Given the description of an element on the screen output the (x, y) to click on. 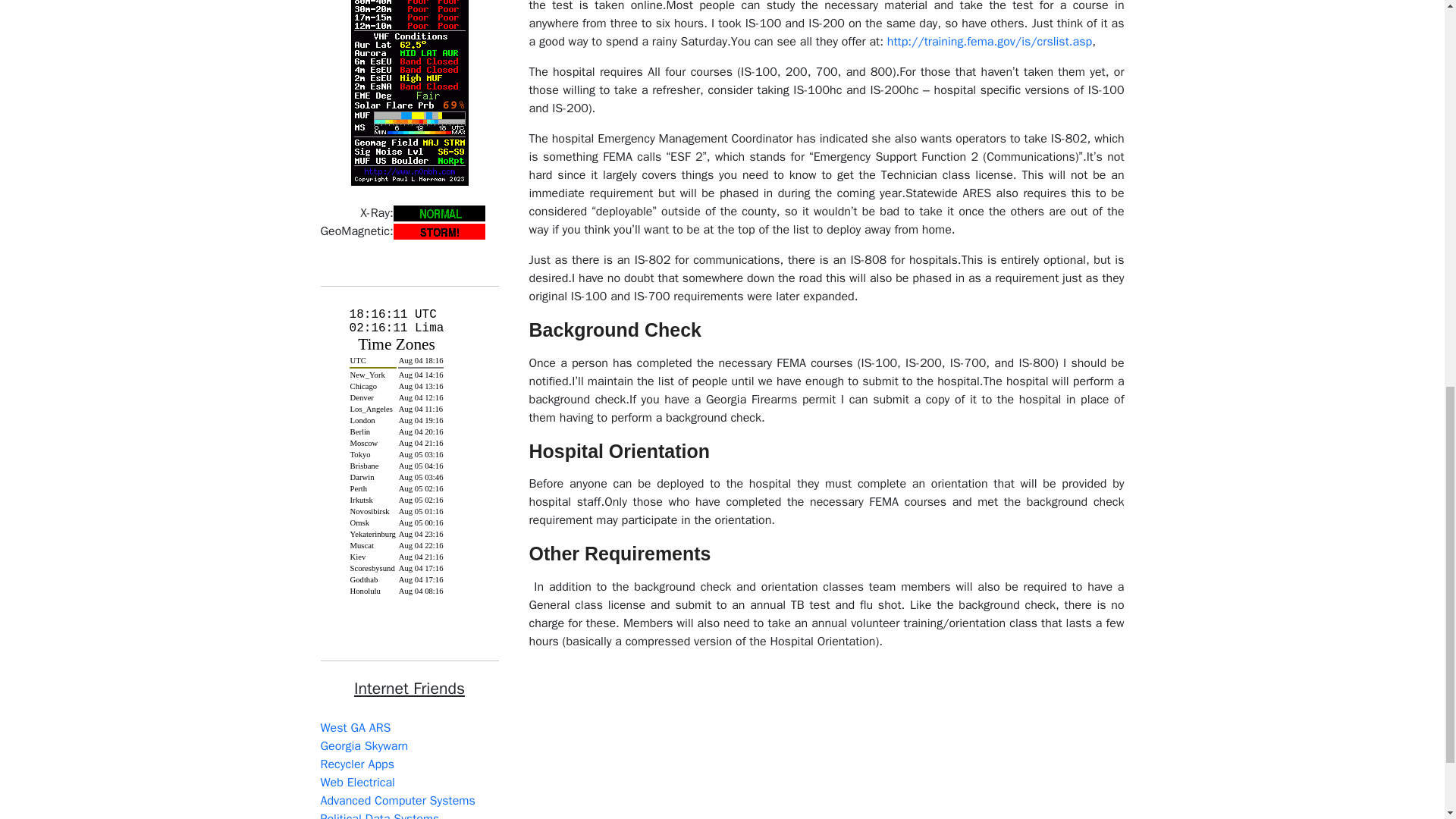
Web Electrical (357, 782)
Click to add Solar-Terrestrial Data to your website! (408, 32)
West GA ARS (355, 727)
Georgia Skywarn (363, 745)
Recycler Apps (356, 764)
Advanced Computer Systems (397, 800)
